Given the description of an element on the screen output the (x, y) to click on. 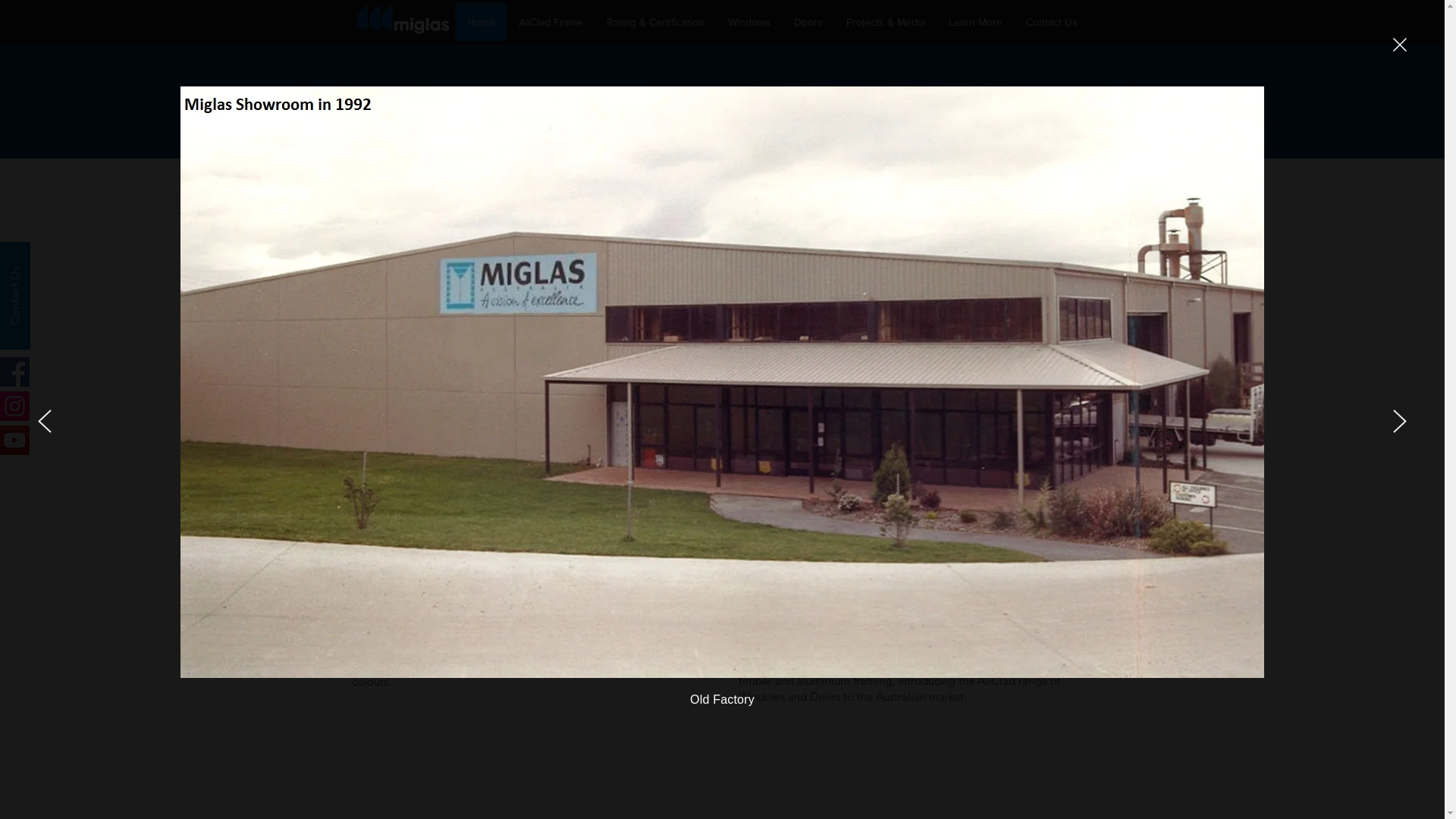
AliClad Frame Element type: text (550, 21)
Rating & Certification Element type: text (654, 21)
Windows Element type: text (748, 21)
Contact Us Element type: text (53, 256)
Home Element type: text (480, 21)
Doors Element type: text (807, 21)
Contact Us Element type: text (1050, 21)
